Given the description of an element on the screen output the (x, y) to click on. 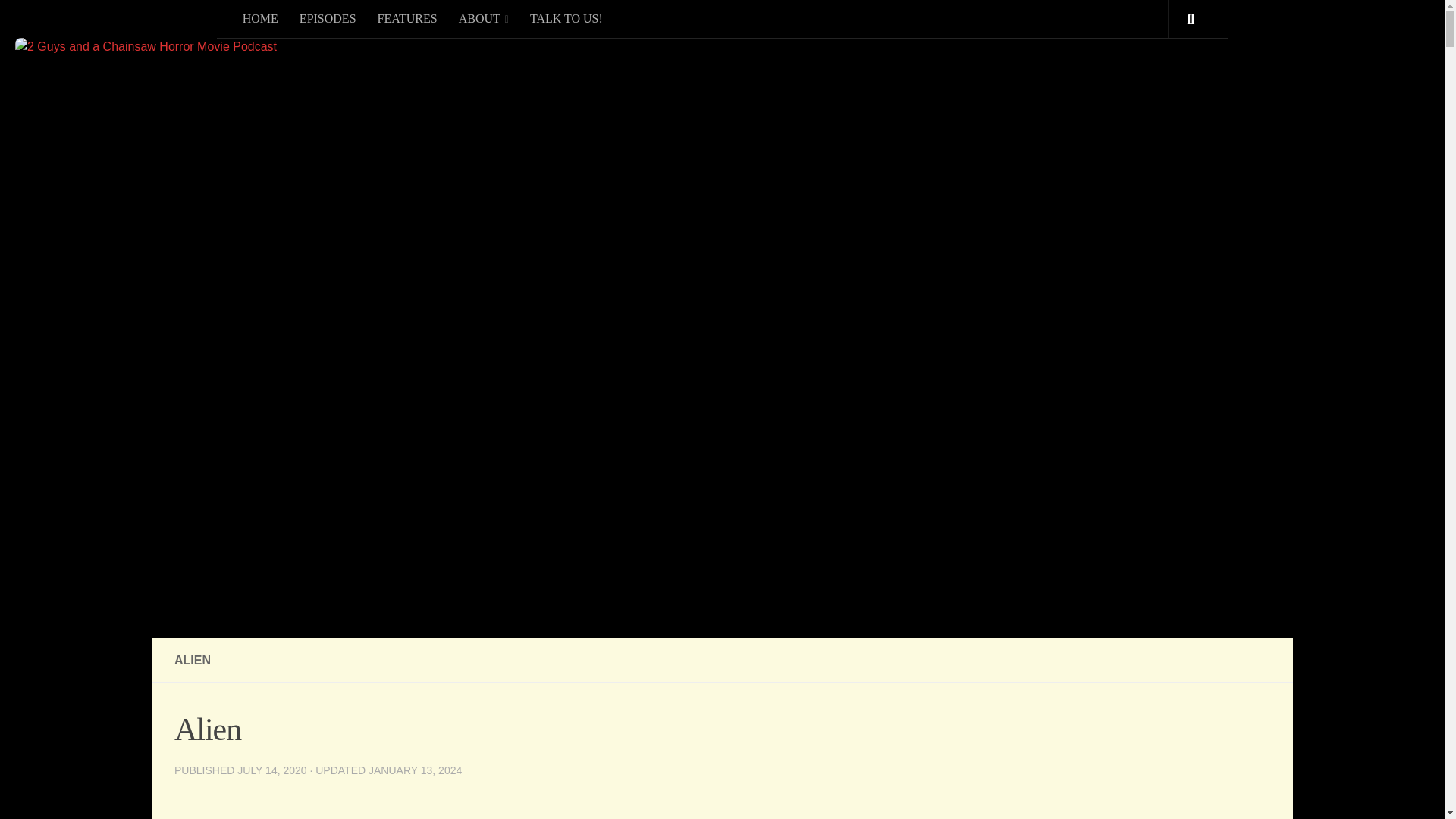
EPISODES (327, 18)
FEATURES (407, 18)
Episodes (327, 18)
HOME (259, 18)
Home (259, 18)
TALK TO US! (565, 18)
ABOUT (483, 18)
Skip to content (63, 20)
